Given the description of an element on the screen output the (x, y) to click on. 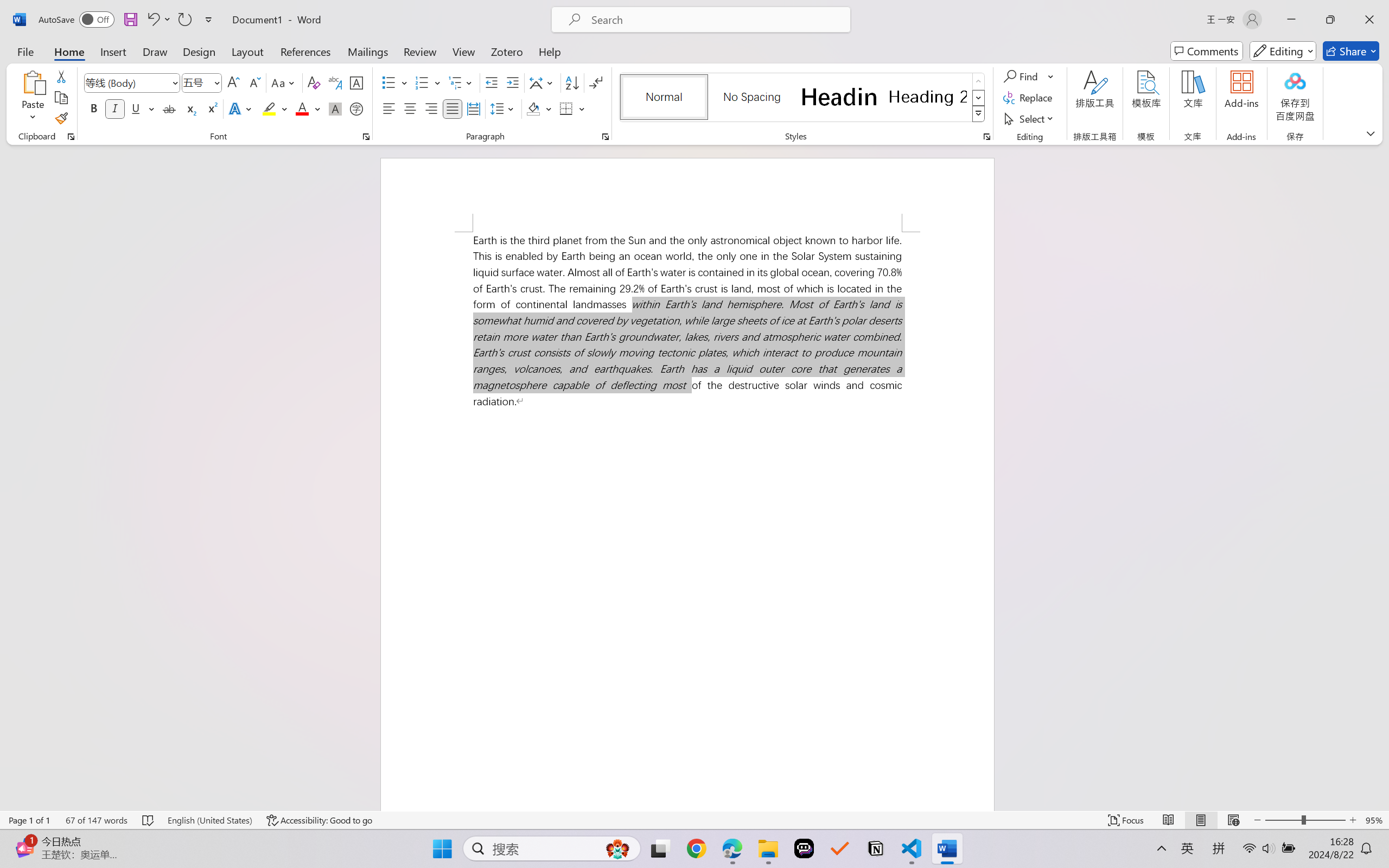
Heading 2 (927, 96)
Open (215, 82)
Replace... (1029, 97)
Class: NetUIScrollBar (1382, 477)
Row Down (978, 97)
Page 1 content (687, 521)
Character Border (356, 82)
Text Effects and Typography (241, 108)
